Given the description of an element on the screen output the (x, y) to click on. 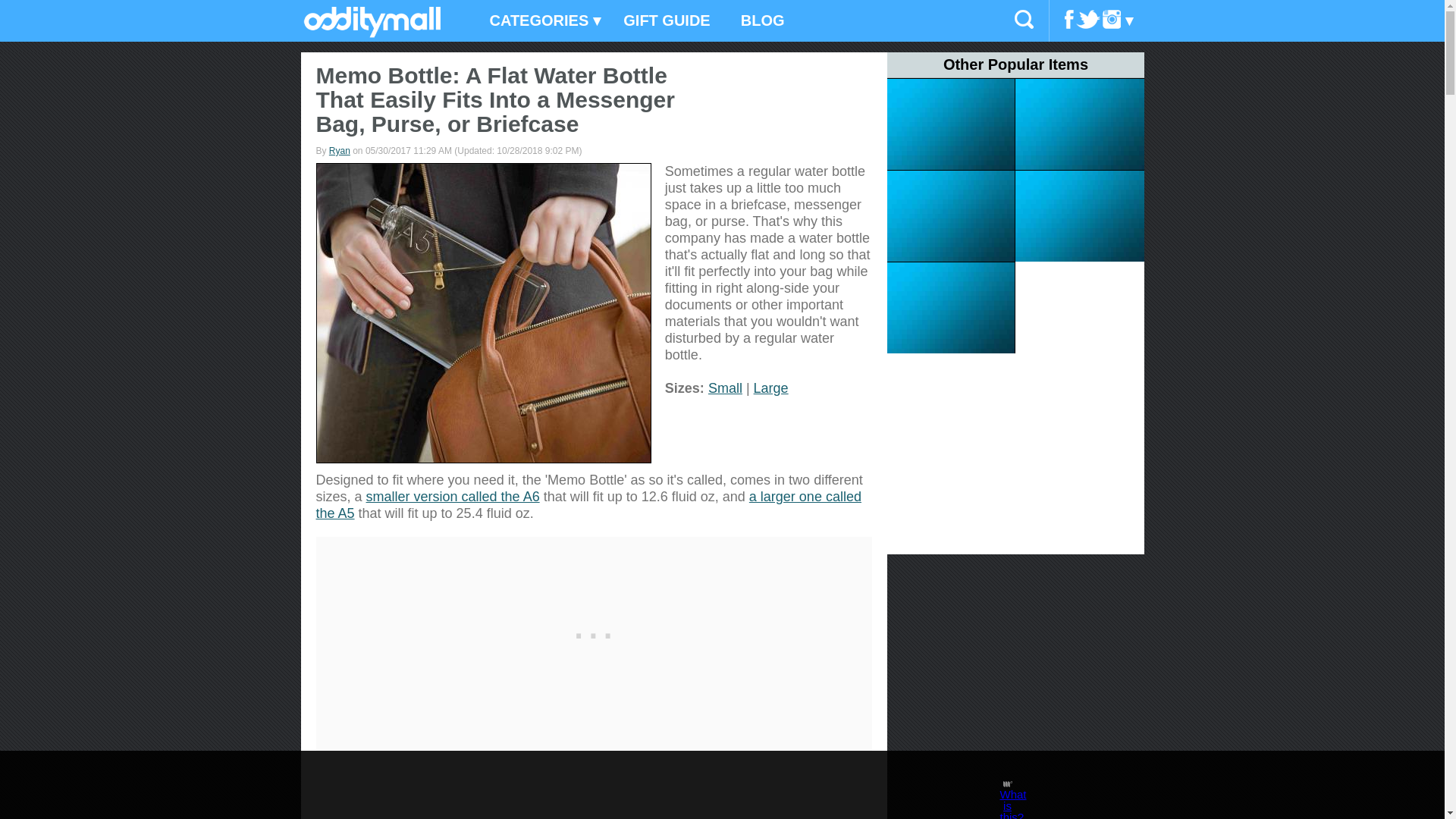
Large (771, 387)
smaller version called the A6 (453, 496)
Small (724, 387)
GIFT GUIDE (666, 20)
BLOG (762, 20)
Ryan (339, 150)
Unique Gifts - Unusual Gift Ideas (371, 32)
3rd party ad content (593, 631)
CATEGORIES (541, 20)
a larger one called the A5 (587, 504)
